Given the description of an element on the screen output the (x, y) to click on. 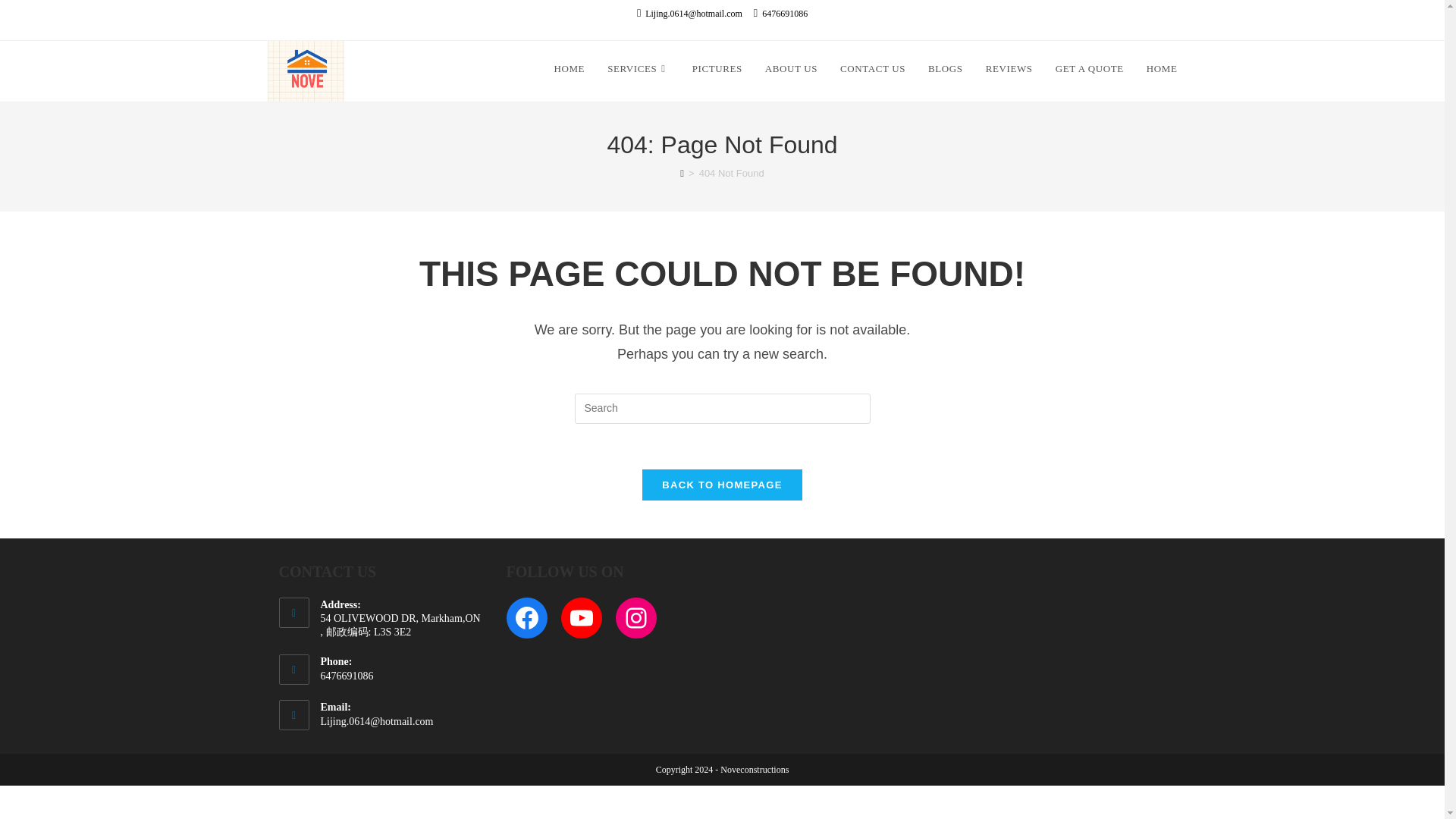
ABOUT US (791, 68)
REVIEWS (1008, 68)
CONTACT US (872, 68)
HOME (1162, 68)
HOME (568, 68)
SERVICES (638, 68)
GET A QUOTE (1089, 68)
BLOGS (945, 68)
6476691086 (781, 13)
PICTURES (717, 68)
